Given the description of an element on the screen output the (x, y) to click on. 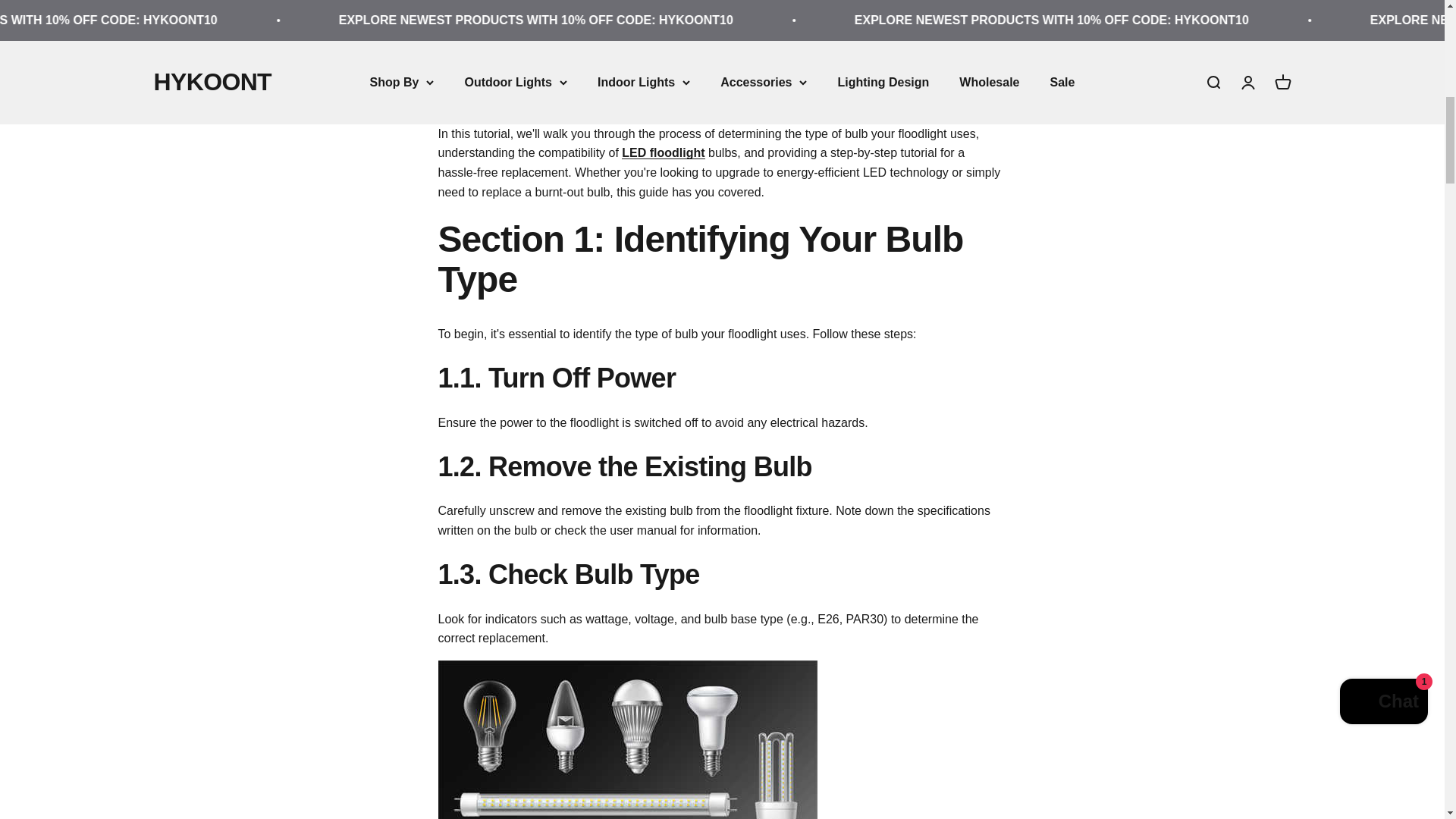
led flood light (662, 152)
